Given the description of an element on the screen output the (x, y) to click on. 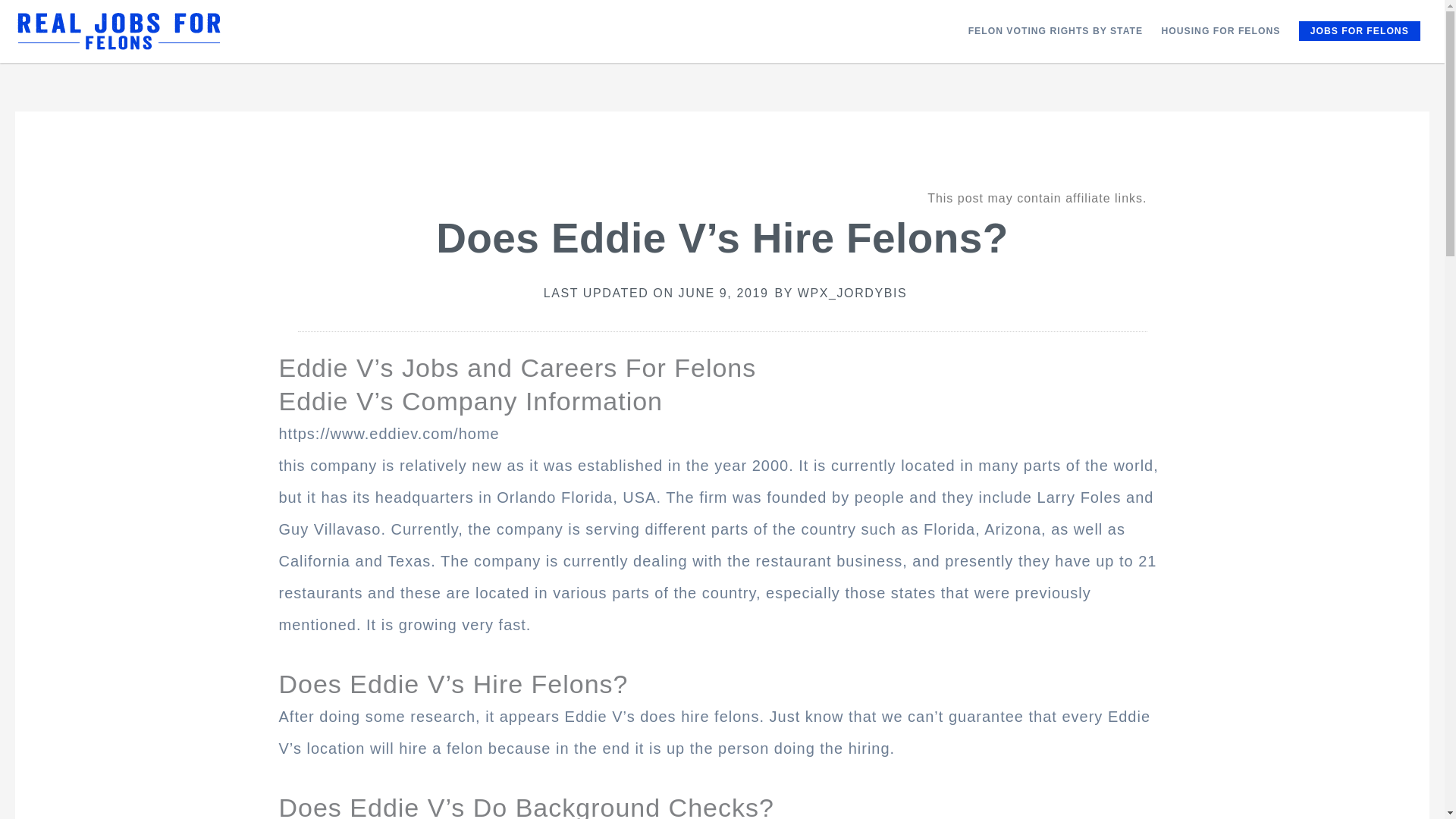
FELON VOTING RIGHTS BY STATE (1054, 30)
HOUSING FOR FELONS (1219, 30)
JOBS FOR FELONS (1359, 30)
